Given the description of an element on the screen output the (x, y) to click on. 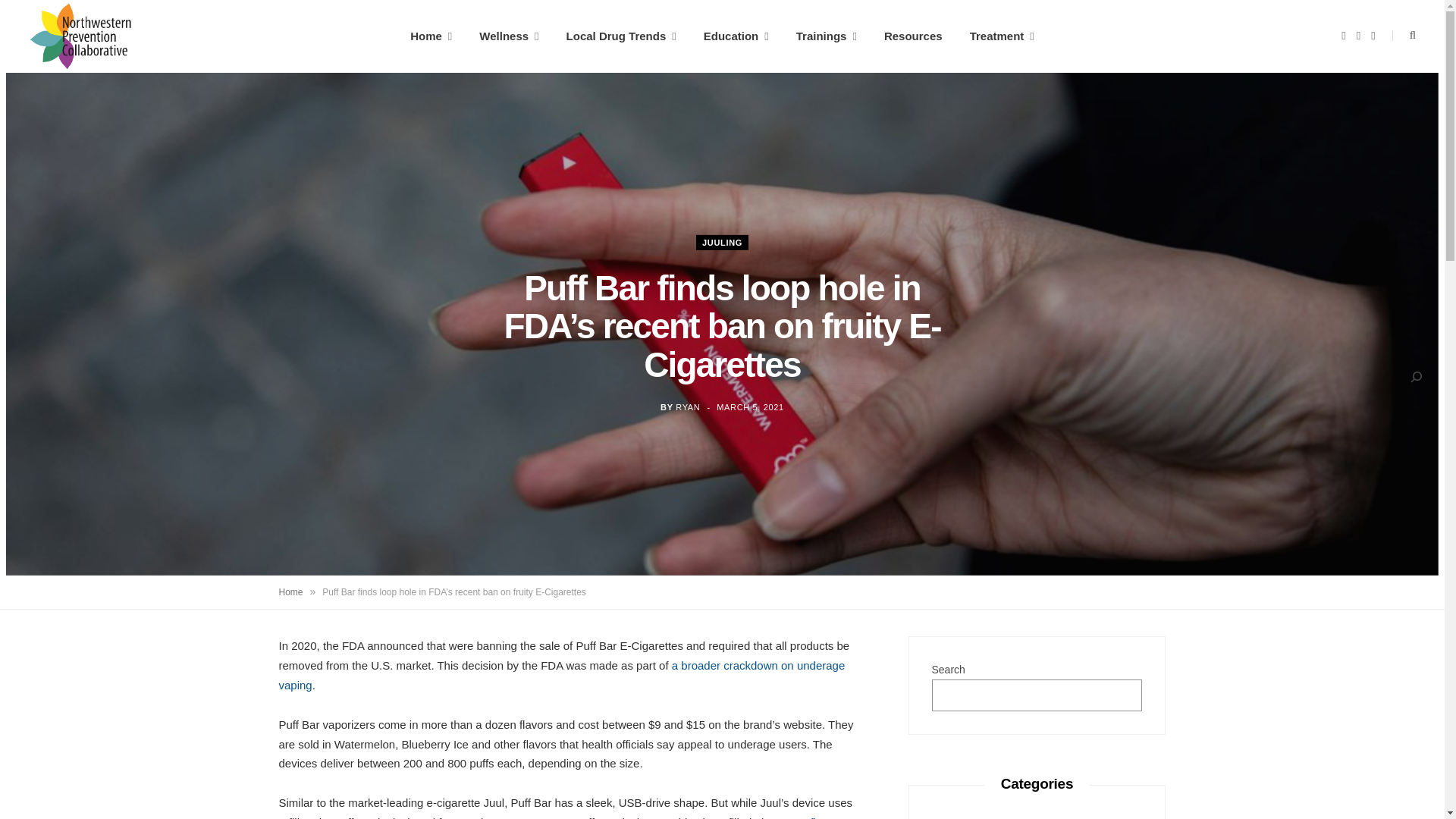
Local Drug Trends (621, 36)
Home (430, 36)
Treatment (1002, 36)
Resources (913, 36)
Posts by Ryan (687, 406)
NWPrevention (80, 36)
Education (736, 36)
Trainings (826, 36)
Wellness (508, 36)
